Given the description of an element on the screen output the (x, y) to click on. 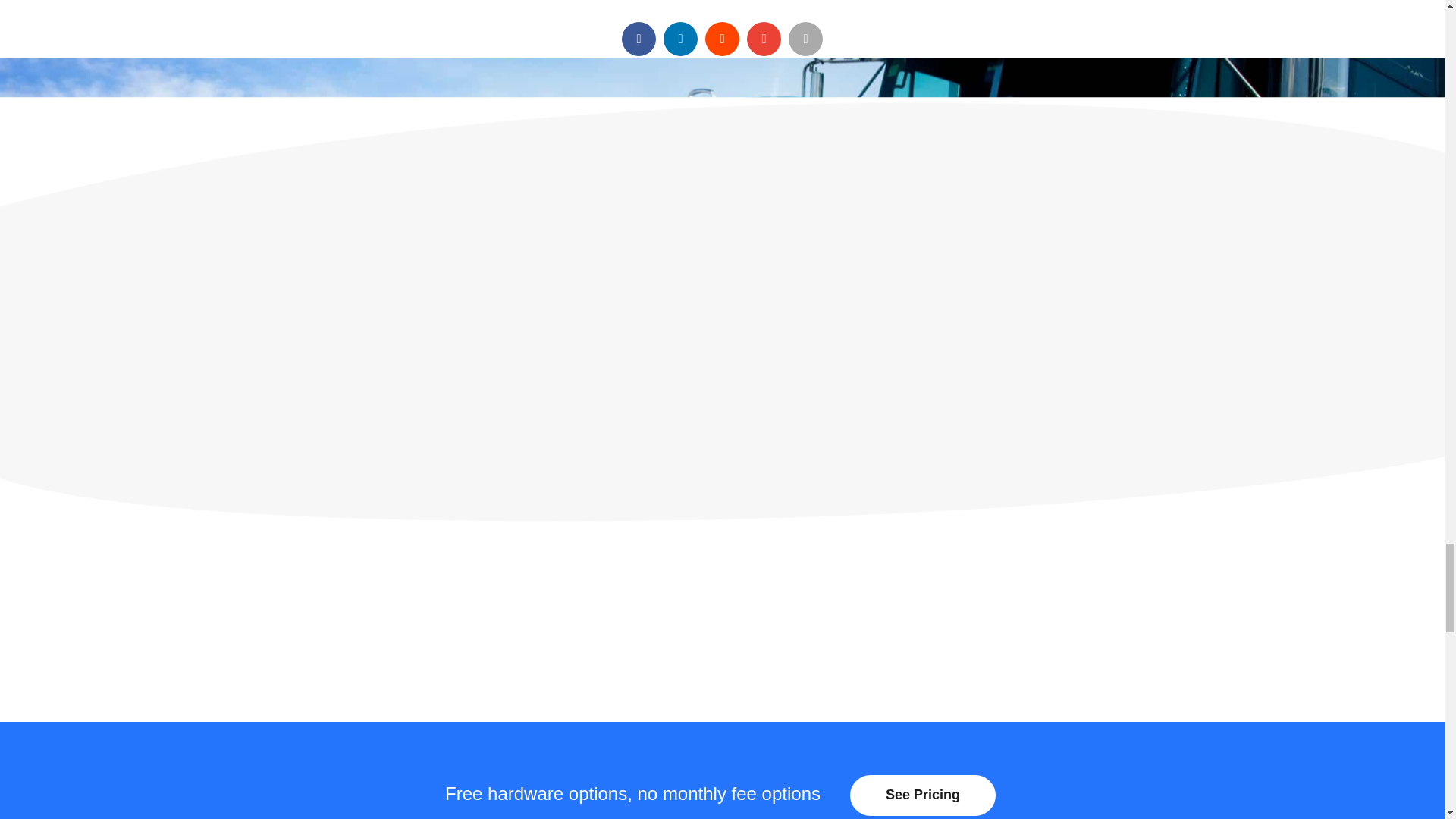
See Pricing (922, 794)
